Given the description of an element on the screen output the (x, y) to click on. 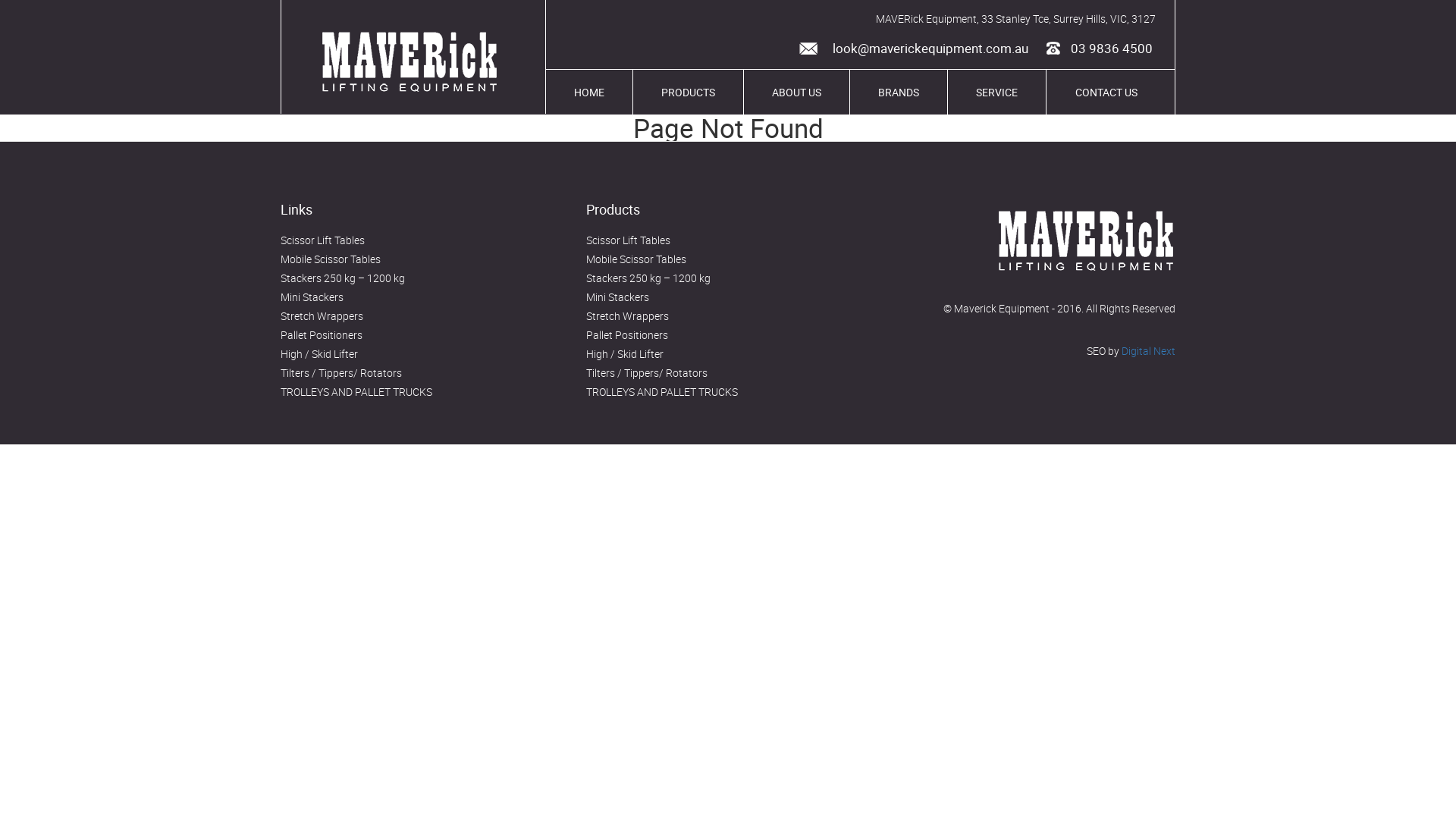
ABOUT US Element type: text (796, 91)
Digital Next Element type: text (1148, 350)
Tilters / Tippers/ Rotators Element type: text (646, 372)
High / Skid Lifter Element type: text (624, 353)
BRANDS Element type: text (898, 91)
High / Skid Lifter Element type: text (318, 353)
TROLLEYS AND PALLET TRUCKS Element type: text (661, 391)
SERVICE Element type: text (996, 91)
Stretch Wrappers Element type: text (627, 315)
Mobile Scissor Tables Element type: text (330, 258)
HOME Element type: text (589, 91)
TROLLEYS AND PALLET TRUCKS Element type: text (356, 391)
Scissor Lift Tables Element type: text (628, 239)
look@maverickequipment.com.au Element type: text (908, 48)
Scissor Lift Tables Element type: text (322, 239)
Mobile Scissor Tables Element type: text (636, 258)
03 9836 4500 Element type: text (1098, 50)
Mini Stackers Element type: text (311, 296)
Stretch Wrappers Element type: text (321, 315)
Tilters / Tippers/ Rotators Element type: text (340, 372)
Mini Stackers Element type: text (617, 296)
PRODUCTS Element type: text (688, 91)
Pallet Positioners Element type: text (321, 334)
CONTACT US Element type: text (1106, 91)
Pallet Positioners Element type: text (627, 334)
